Given the description of an element on the screen output the (x, y) to click on. 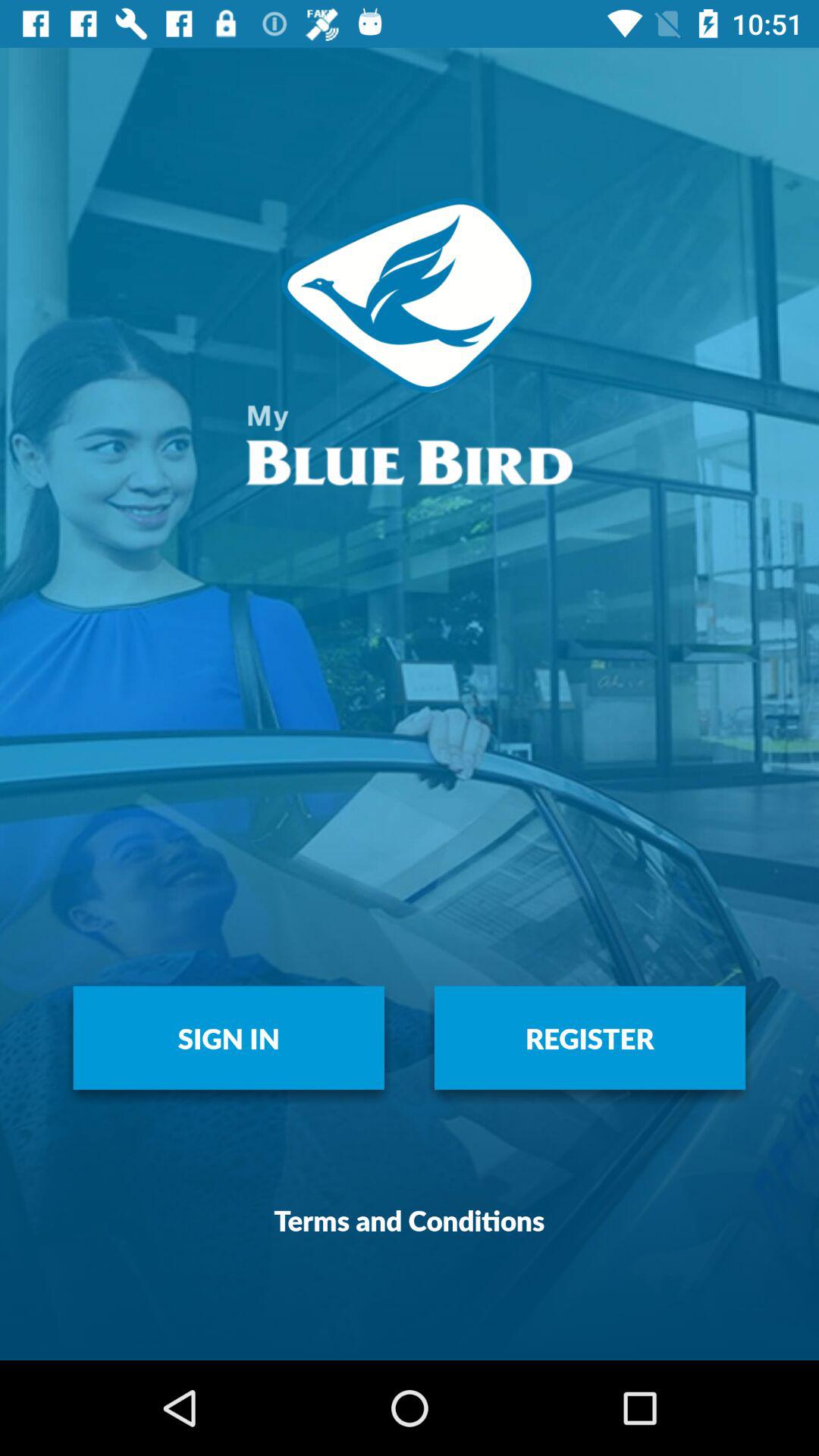
select the register (589, 1037)
